Given the description of an element on the screen output the (x, y) to click on. 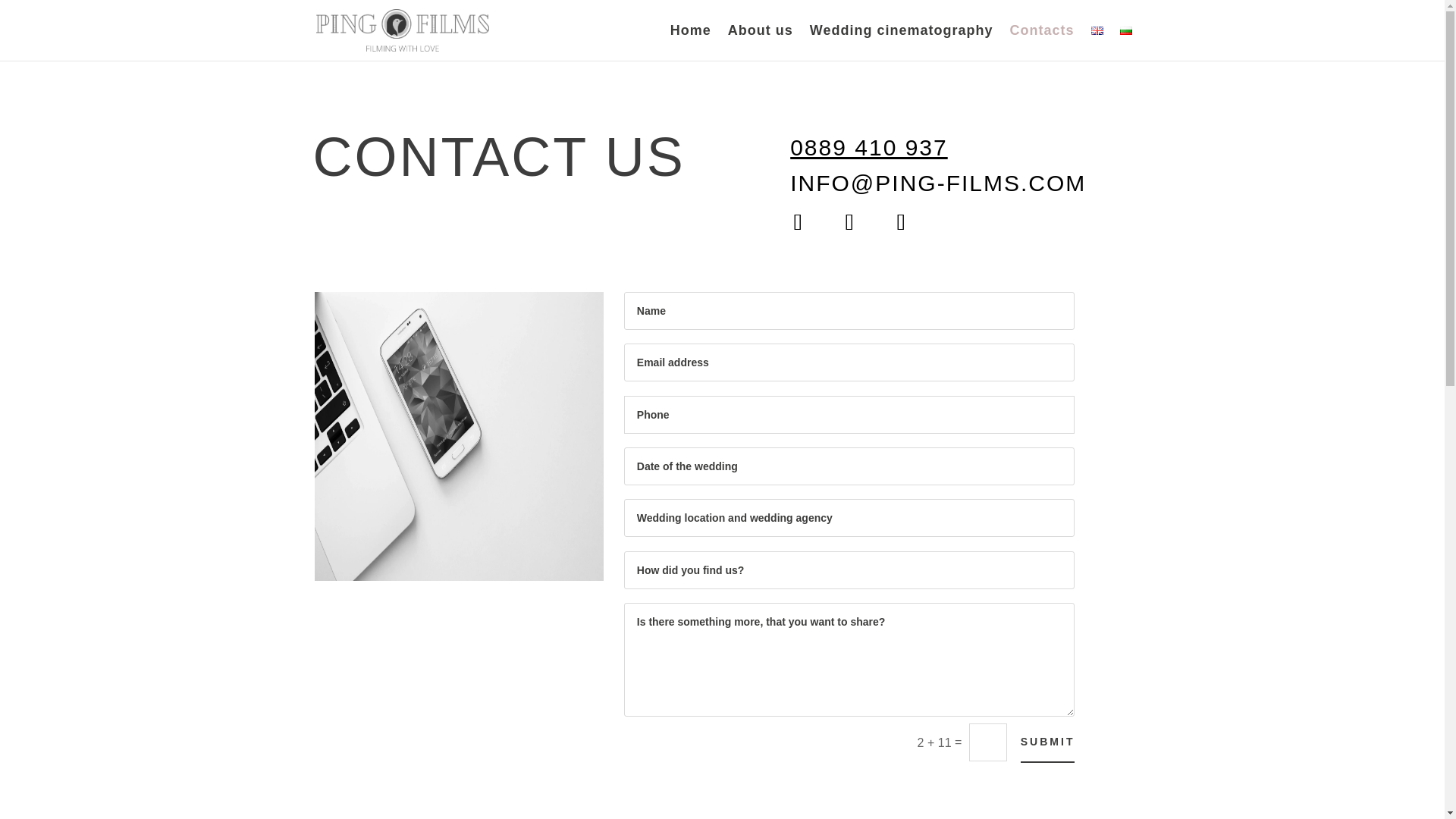
Follow on Instagram (849, 221)
0889 410 937 (868, 147)
About us (760, 42)
SUBMIT (1047, 742)
Follow on Facebook (797, 221)
Home (690, 42)
Contacts (1041, 42)
Contact number of Ping-films (868, 147)
Follow on TikTok (900, 221)
Wedding cinematography (900, 42)
